Given the description of an element on the screen output the (x, y) to click on. 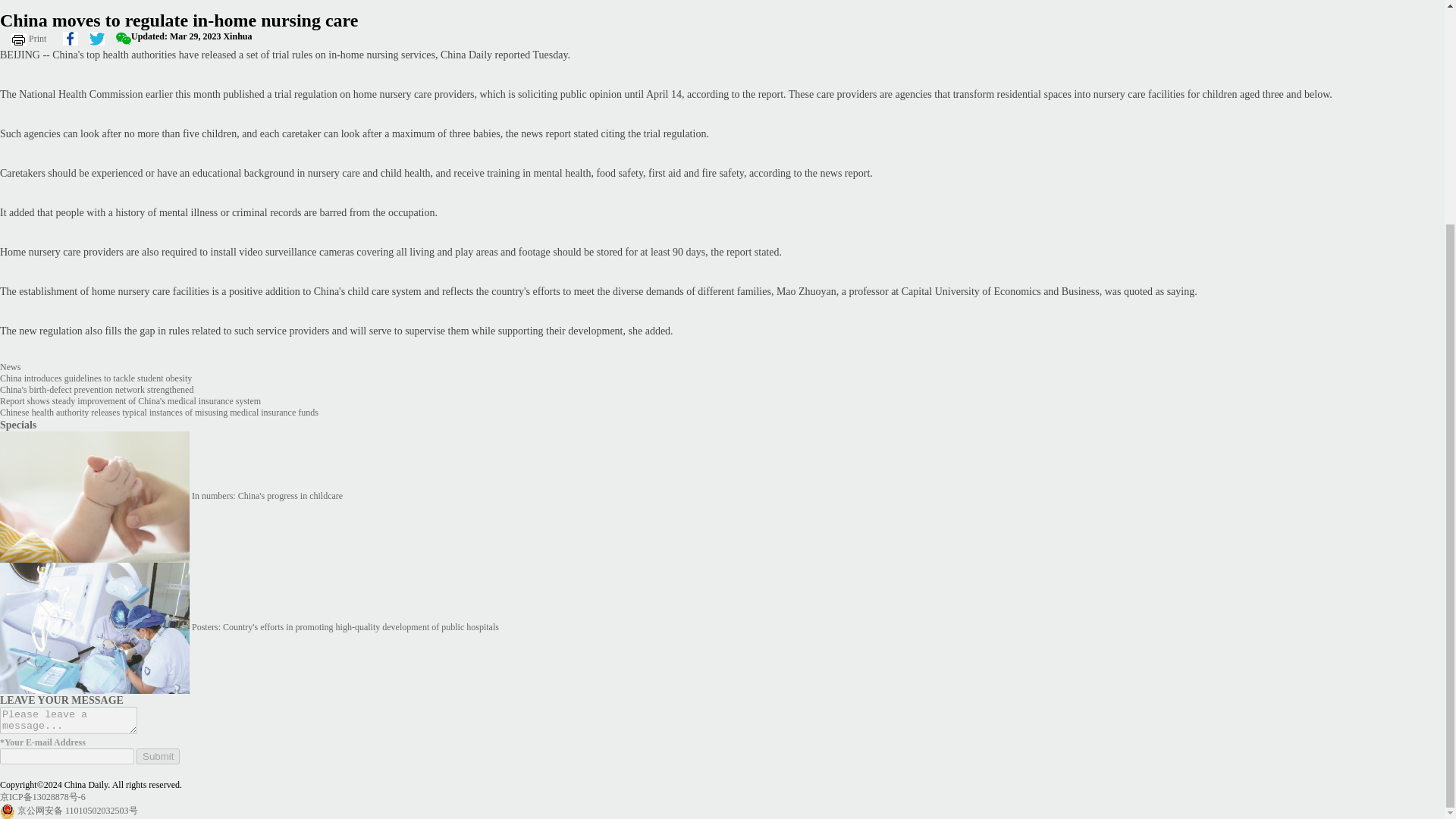
China's birth-defect prevention network strengthened (96, 389)
Specials (18, 424)
print (30, 38)
wechat (123, 38)
China's birth-defect prevention network strengthened (96, 389)
LEAVE YOUR MESSAGE (61, 699)
News (10, 366)
Submit (157, 756)
facebook (70, 38)
twitter (96, 38)
Print (30, 38)
China introduces guidelines to tackle student obesity (96, 378)
